Given the description of an element on the screen output the (x, y) to click on. 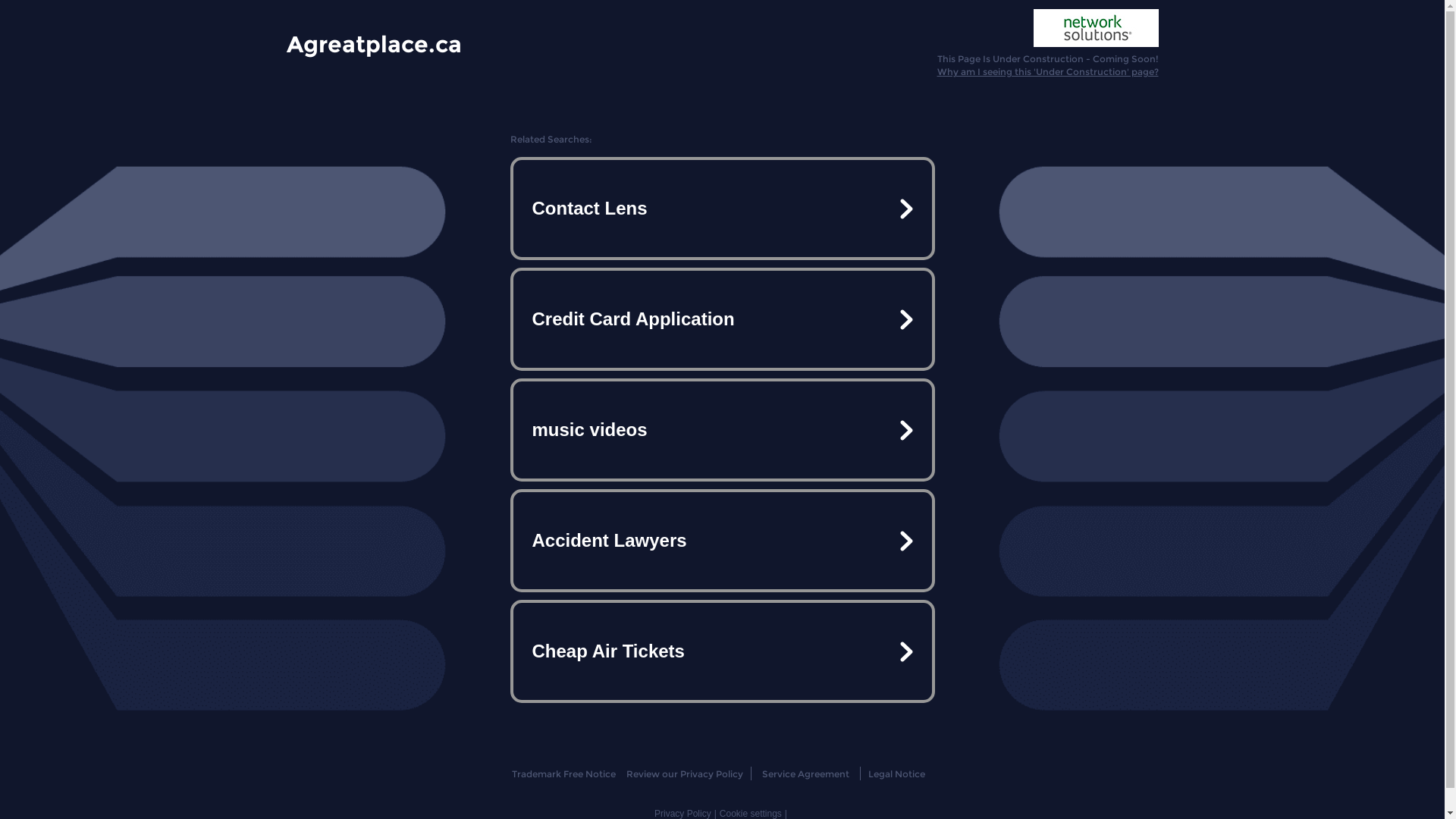
Agreatplace.ca Element type: text (373, 43)
Trademark Free Notice Element type: text (563, 773)
Contact Lens Element type: text (721, 208)
music videos Element type: text (721, 429)
Why am I seeing this 'Under Construction' page? Element type: text (1047, 71)
Credit Card Application Element type: text (721, 318)
Cheap Air Tickets Element type: text (721, 650)
Review our Privacy Policy Element type: text (684, 773)
Accident Lawyers Element type: text (721, 540)
Legal Notice Element type: text (896, 773)
Service Agreement Element type: text (805, 773)
